Given the description of an element on the screen output the (x, y) to click on. 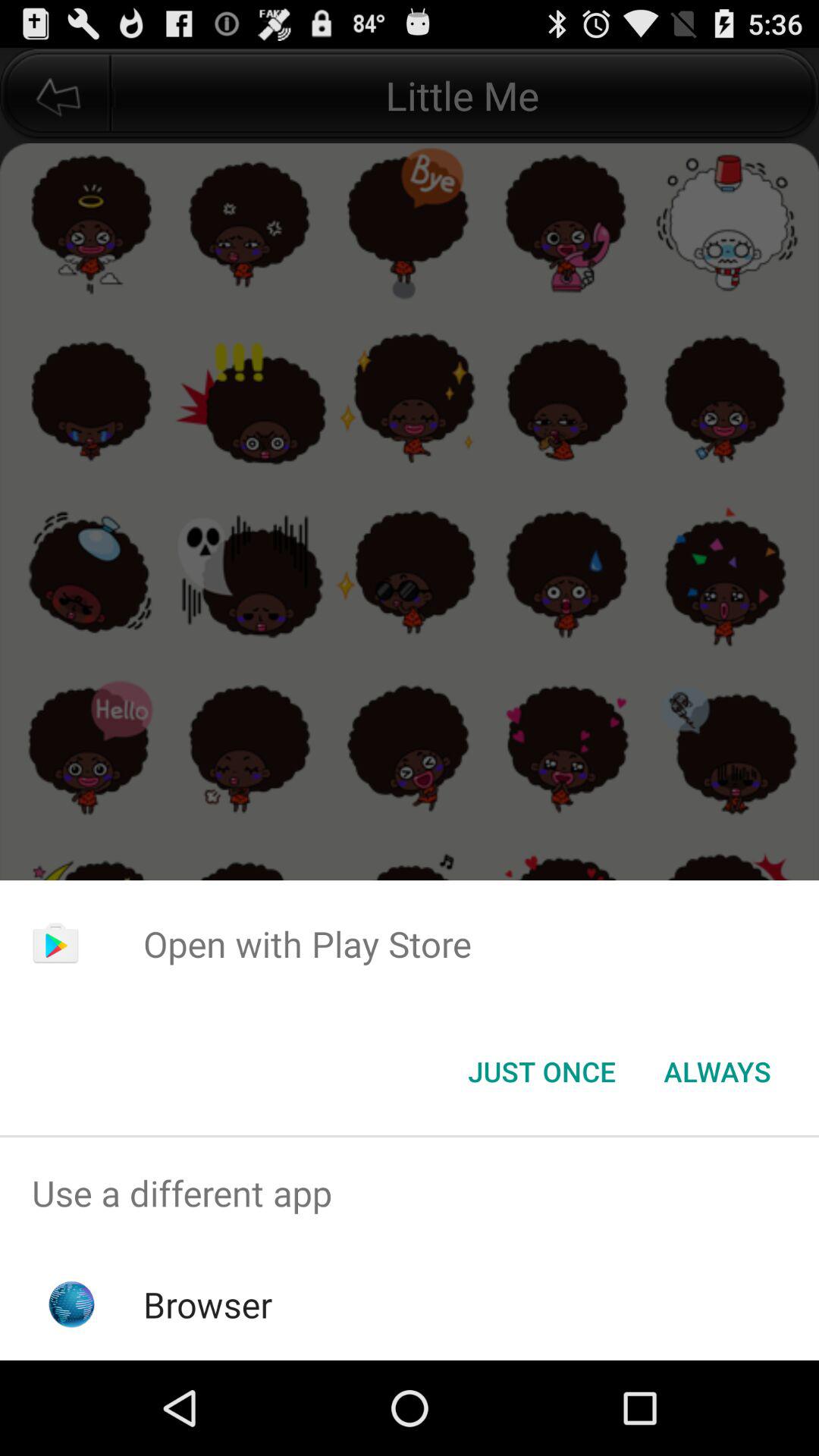
swipe until the always (717, 1071)
